Given the description of an element on the screen output the (x, y) to click on. 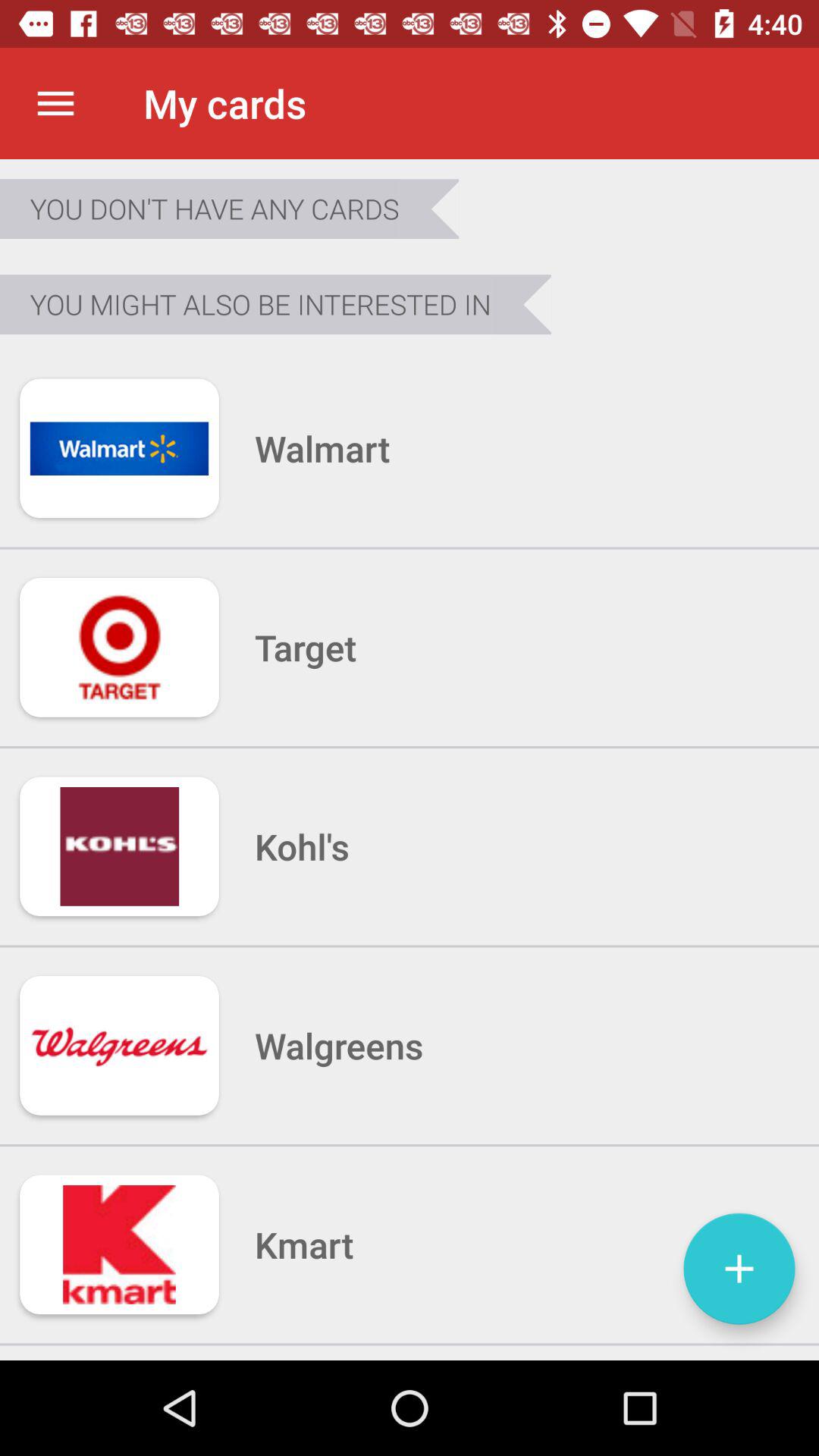
click the item above the you don t (55, 103)
